Given the description of an element on the screen output the (x, y) to click on. 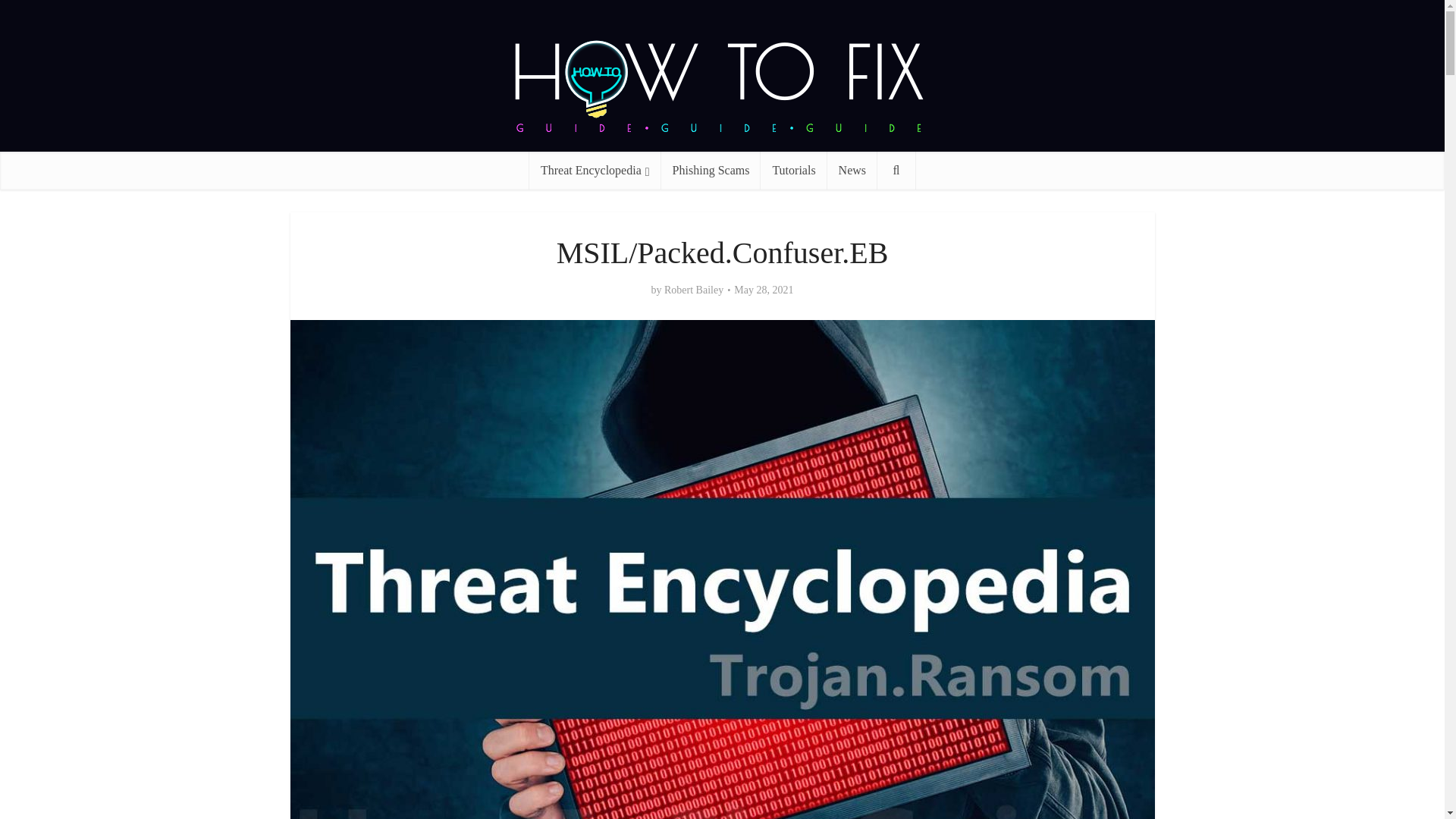
Phishing Scams (711, 170)
Robert Bailey (693, 290)
News (852, 170)
Tutorials (793, 170)
Threat Encyclopedia (595, 170)
